Given the description of an element on the screen output the (x, y) to click on. 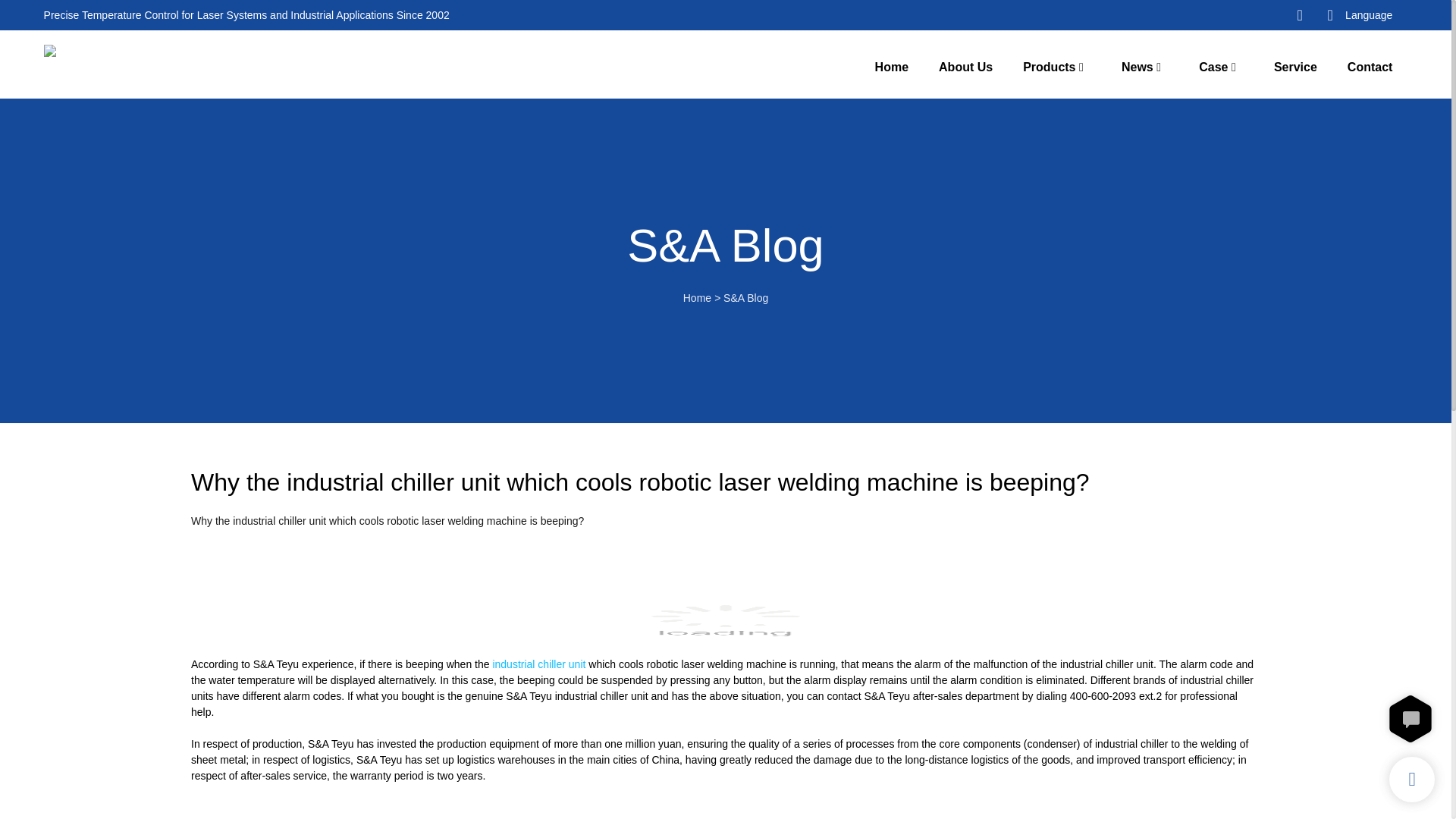
industrial chiller unit (725, 809)
Contact (1370, 66)
News (1137, 66)
About Us (965, 66)
laser cooling (725, 622)
Case (1212, 66)
Service (1295, 66)
Home (891, 66)
Products (1049, 66)
industrial chiller unit (538, 664)
Home (696, 297)
industrial chiller unit (538, 664)
